Given the description of an element on the screen output the (x, y) to click on. 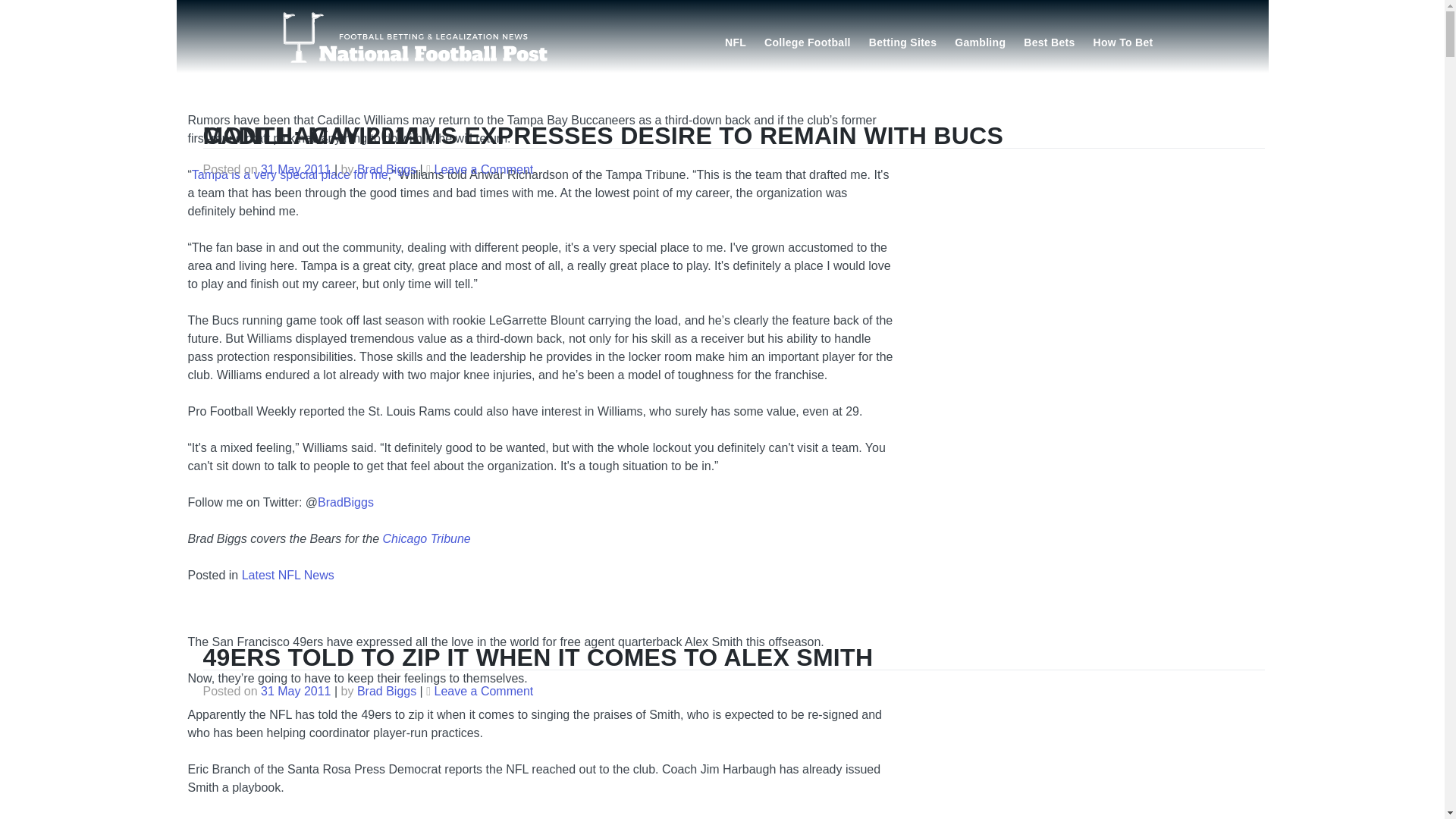
NFL (735, 41)
49ERS TOLD TO ZIP IT WHEN IT COMES TO ALEX SMITH (538, 656)
How To Bet (1122, 41)
Best Bets (1048, 41)
Best Bets (1048, 41)
How To Bet (1122, 41)
Latest NFL News (287, 574)
Gambling (979, 41)
College Football (807, 41)
